Given the description of an element on the screen output the (x, y) to click on. 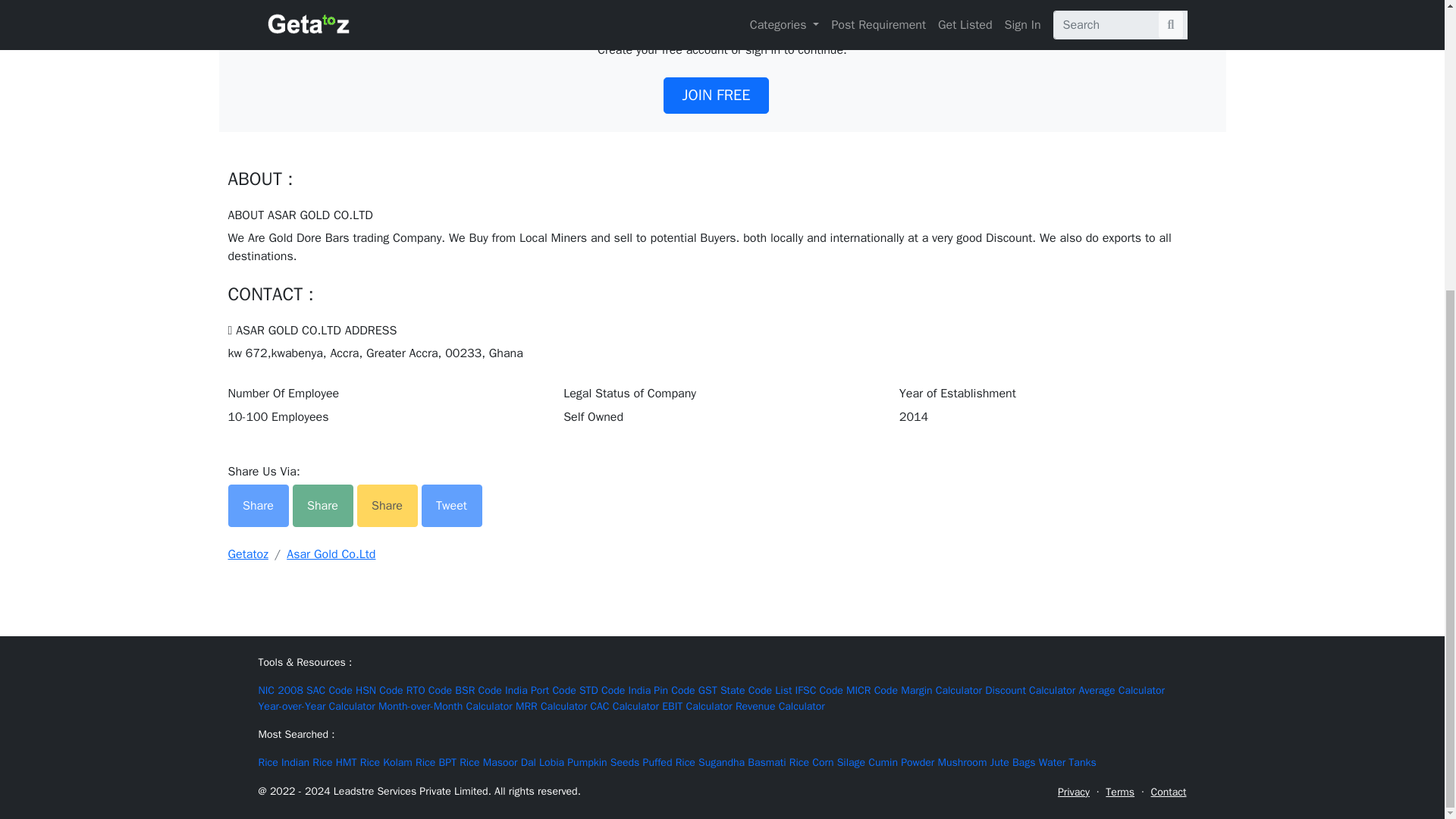
Share (257, 505)
Share (324, 502)
Share (259, 502)
Share (322, 505)
JOIN FREE (716, 94)
